Given the description of an element on the screen output the (x, y) to click on. 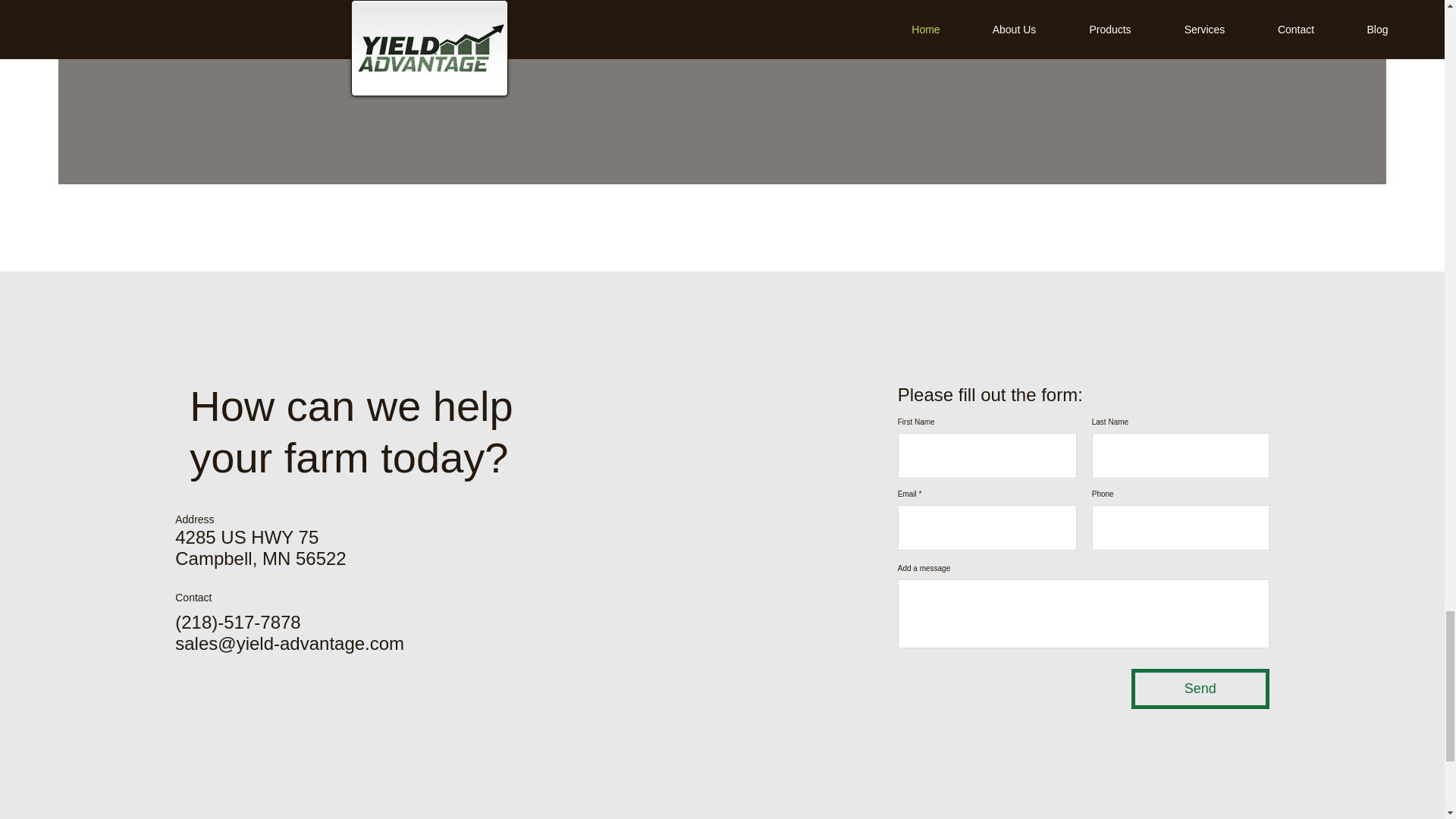
Send (1200, 689)
